Given the description of an element on the screen output the (x, y) to click on. 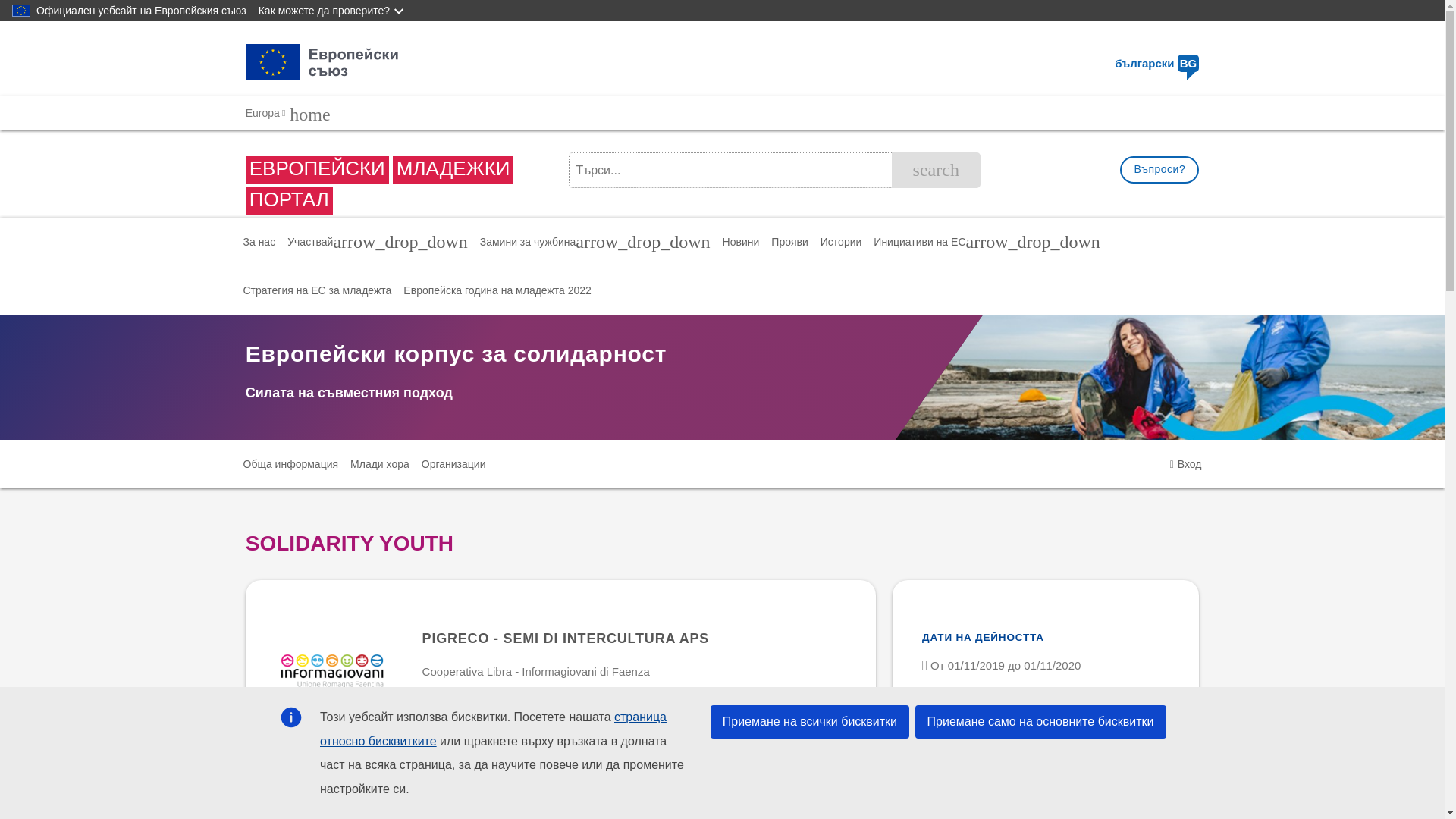
Europa (262, 113)
Europa (262, 113)
